Given the description of an element on the screen output the (x, y) to click on. 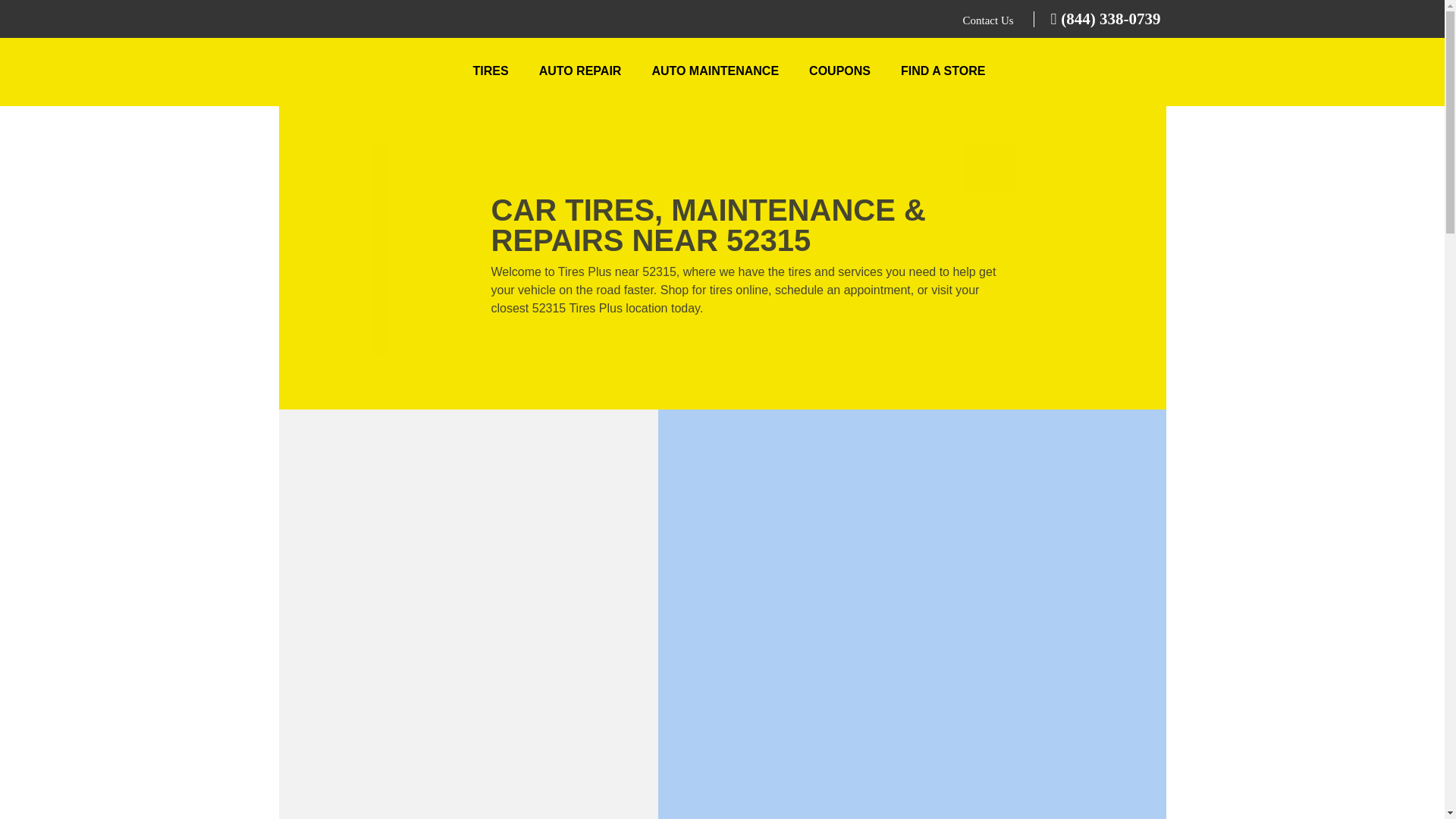
Tires Plus (368, 73)
COUPONS (839, 71)
FIND A STORE (942, 71)
Contact Us (988, 20)
TIRES (491, 71)
AUTO MAINTENANCE (714, 71)
AUTO REPAIR (580, 71)
